Given the description of an element on the screen output the (x, y) to click on. 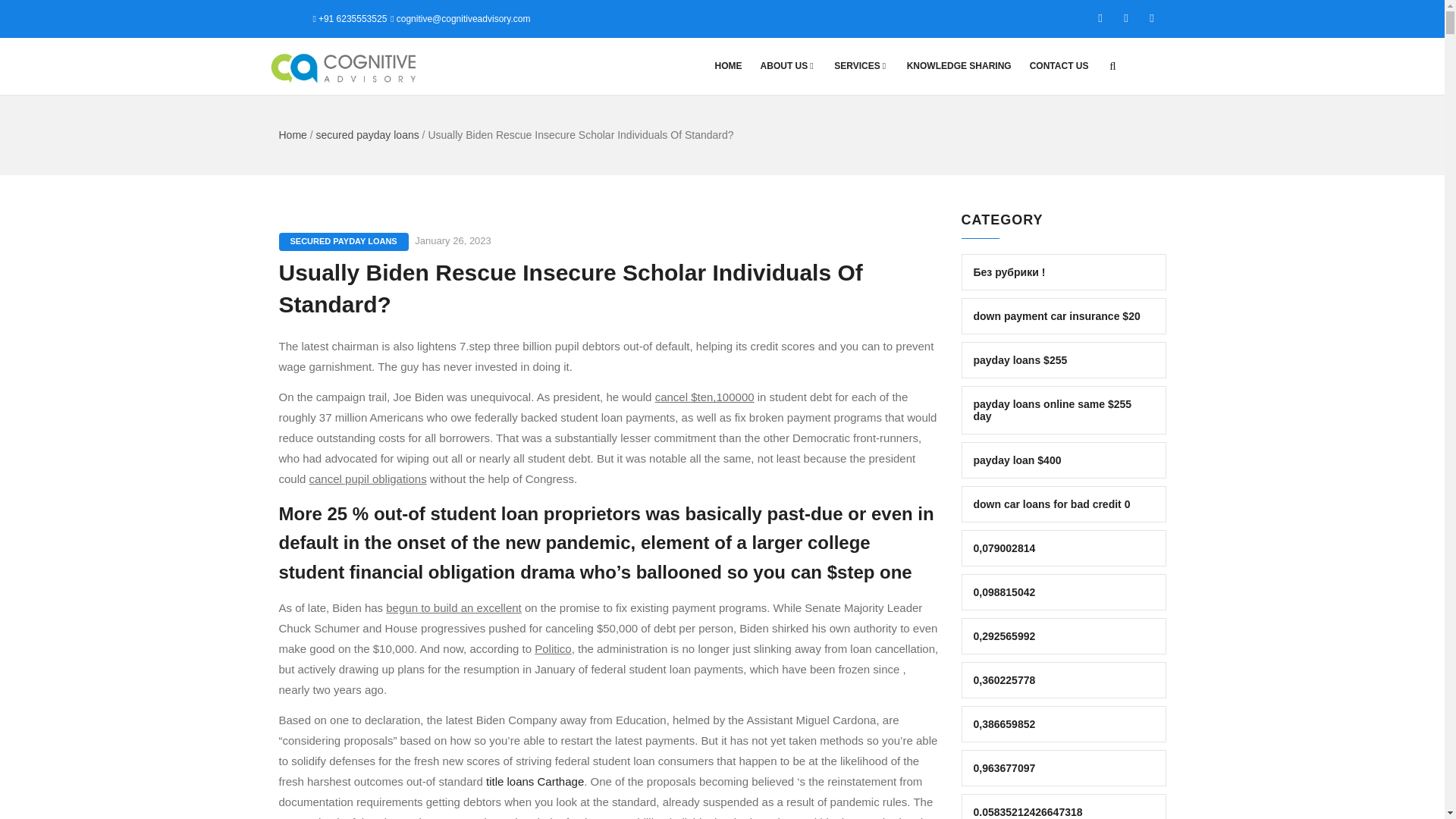
KNOWLEDGE SHARING (959, 66)
title loans Carthage (534, 780)
CONTACT US (1058, 66)
SECURED PAYDAY LOANS (344, 241)
Home (293, 134)
ABOUT US (788, 66)
SERVICES (860, 66)
January 26, 2023 (452, 240)
secured payday loans (367, 134)
